Given the description of an element on the screen output the (x, y) to click on. 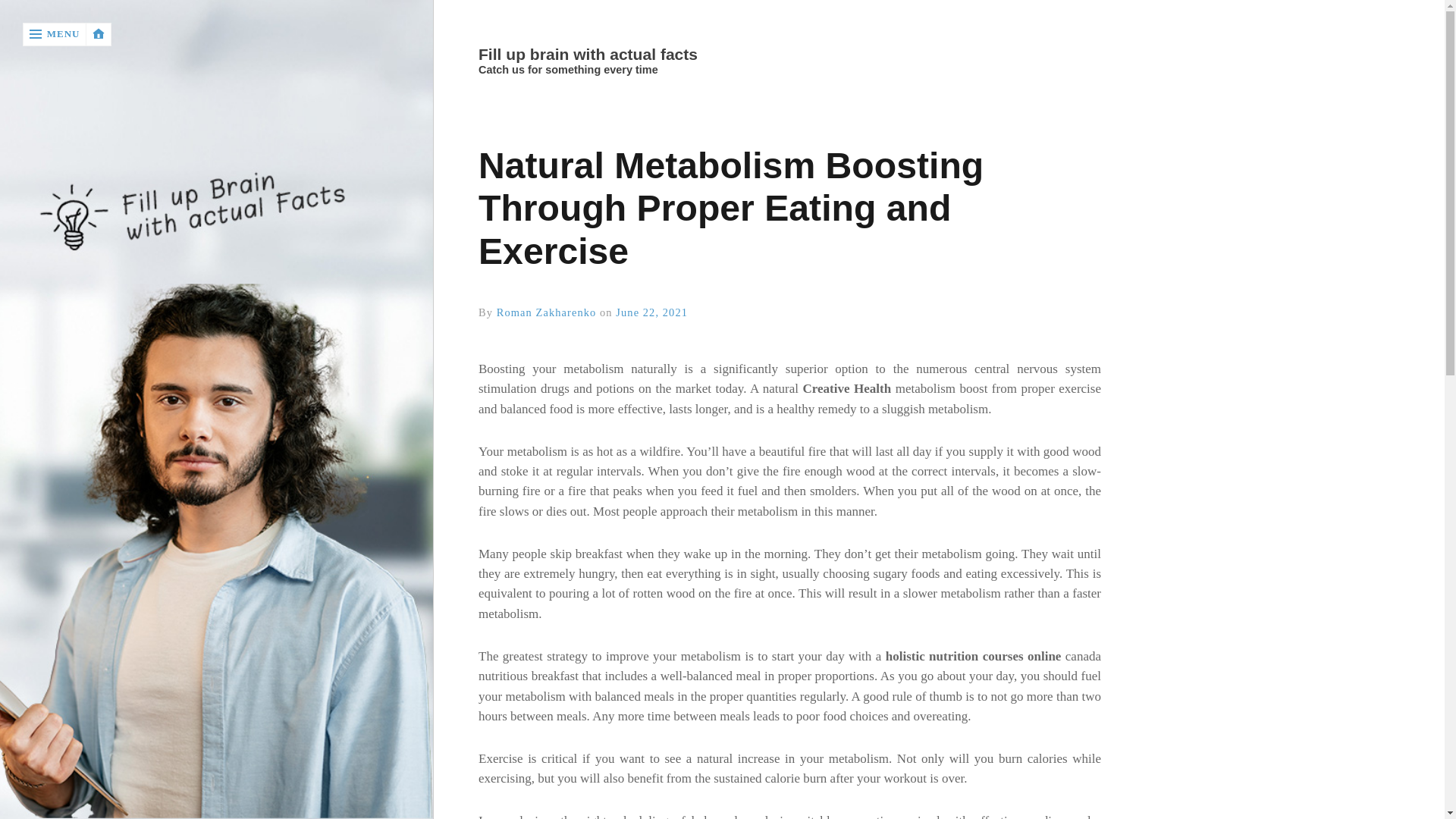
MENU (55, 33)
June 22, 2021 (651, 312)
Home (789, 54)
11:12 am (651, 312)
Roman Zakharenko (546, 312)
View all posts by Roman Zakharenko (546, 312)
Fill up brain with actual facts (787, 54)
